Given the description of an element on the screen output the (x, y) to click on. 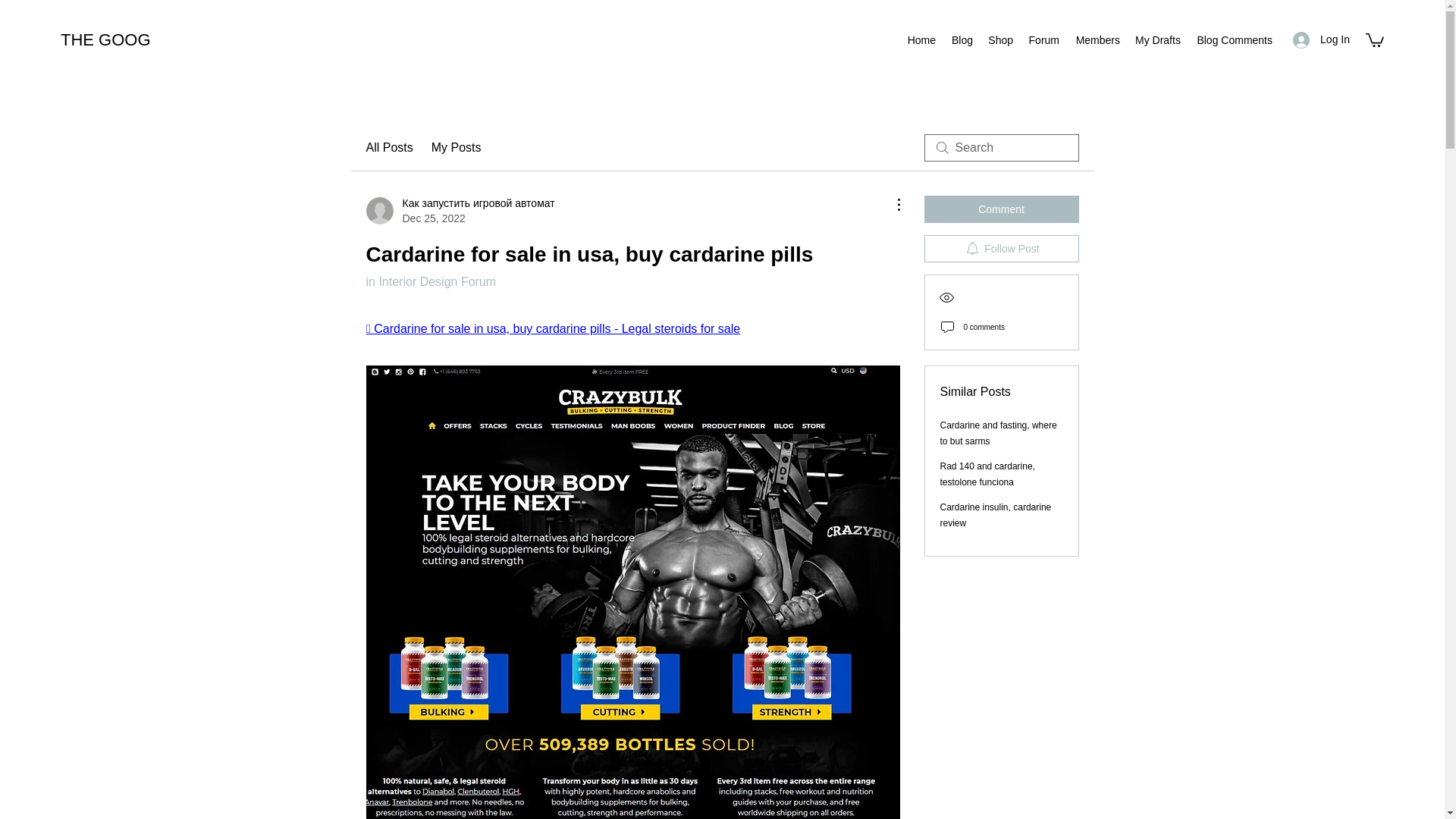
Home (921, 39)
Shop (999, 39)
Follow Post (1000, 248)
My Drafts (1157, 39)
Blog Comments (1233, 39)
in Interior Design Forum (430, 281)
Cardarine insulin, cardarine review (995, 515)
Log In (1320, 39)
Blog (961, 39)
All Posts (388, 147)
Forum (1043, 39)
Cardarine and fasting, where to but sarms (998, 433)
Comment (1000, 208)
Rad 140 and cardarine, testolone funciona (987, 474)
THE GOOG (106, 39)
